Given the description of an element on the screen output the (x, y) to click on. 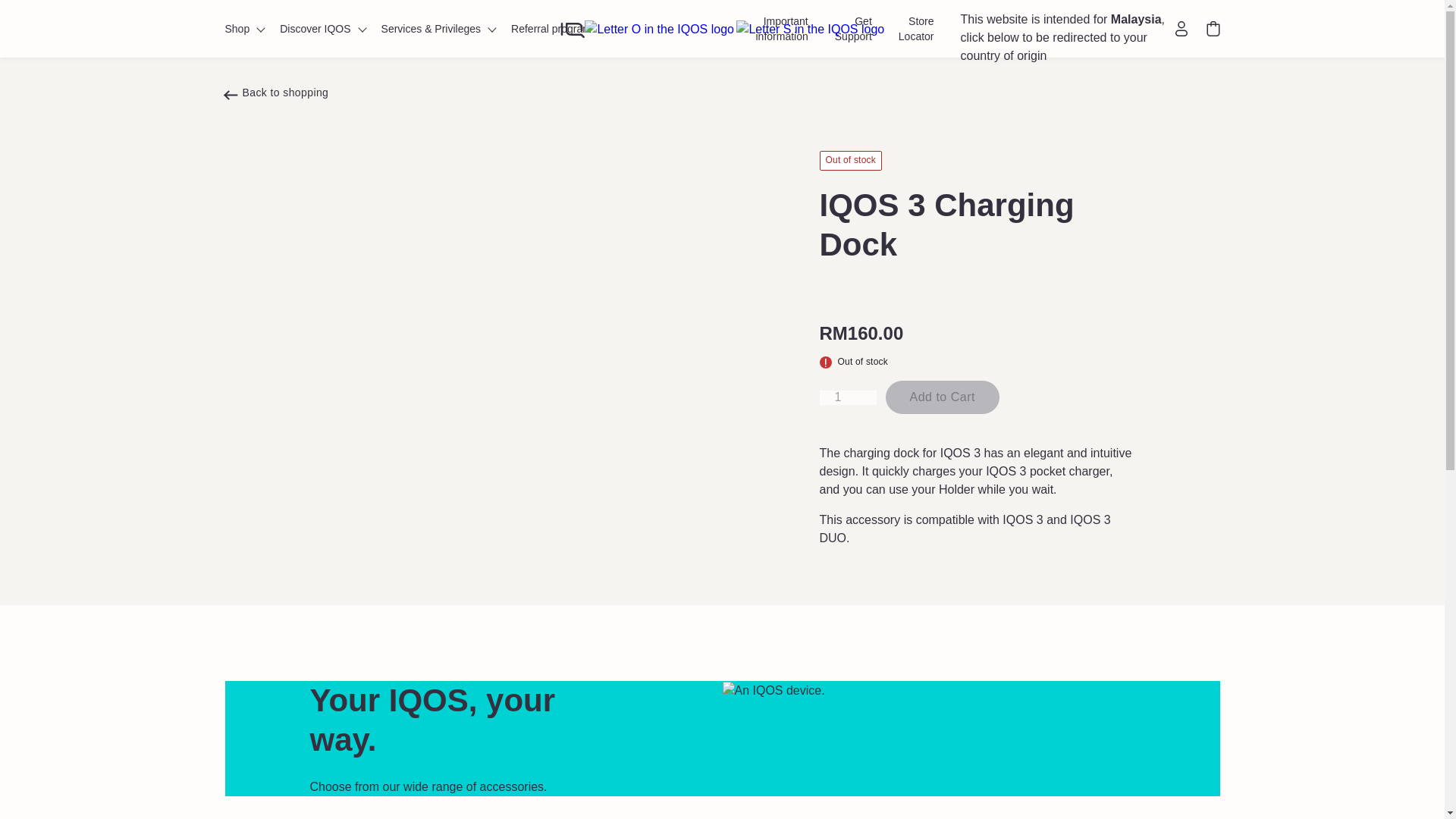
My account (1181, 28)
View Cart (1212, 28)
iQOS Home (721, 28)
Shop (251, 28)
Select  (941, 397)
